Given the description of an element on the screen output the (x, y) to click on. 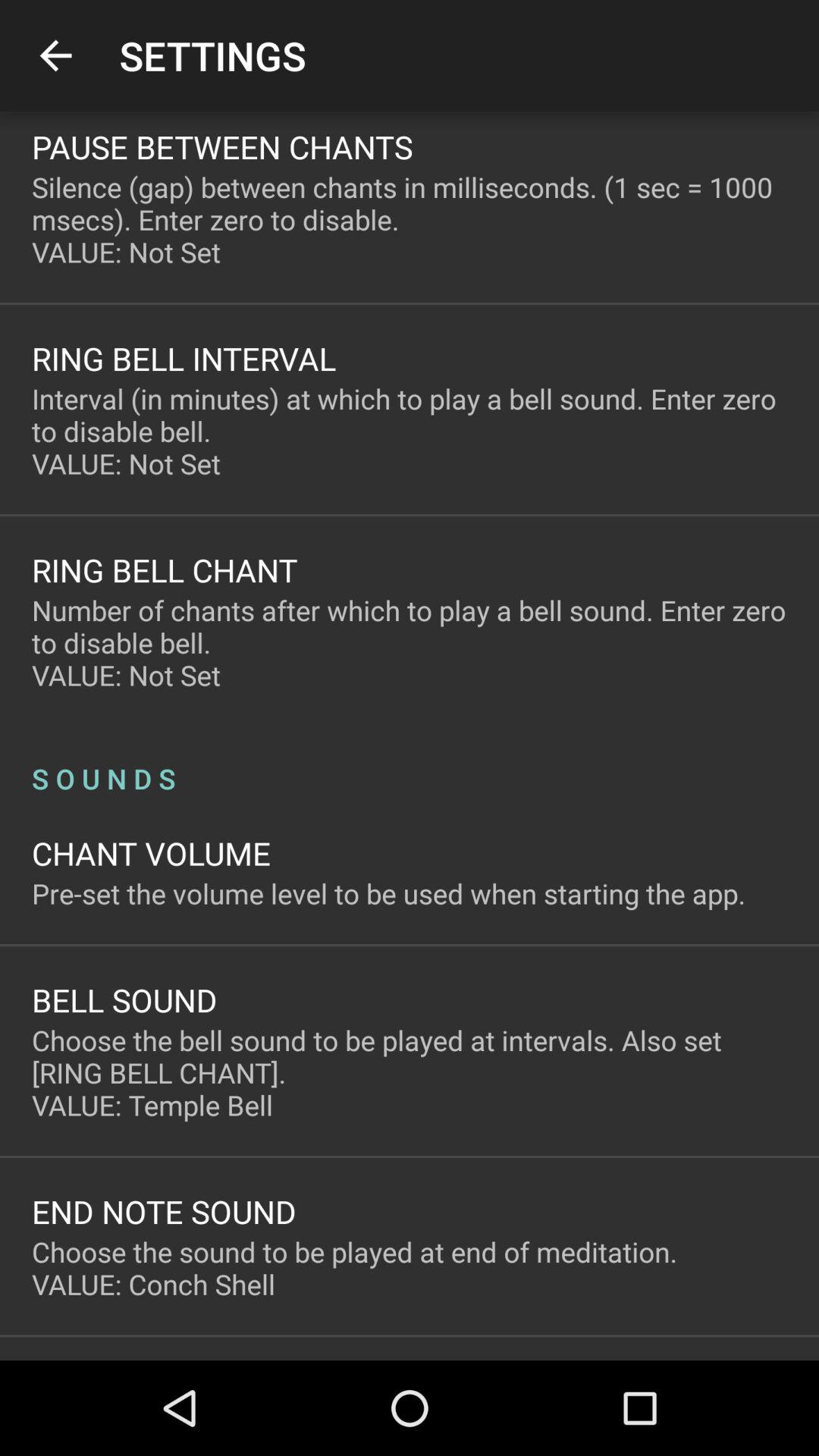
click the icon below ring bell chant item (409, 642)
